Given the description of an element on the screen output the (x, y) to click on. 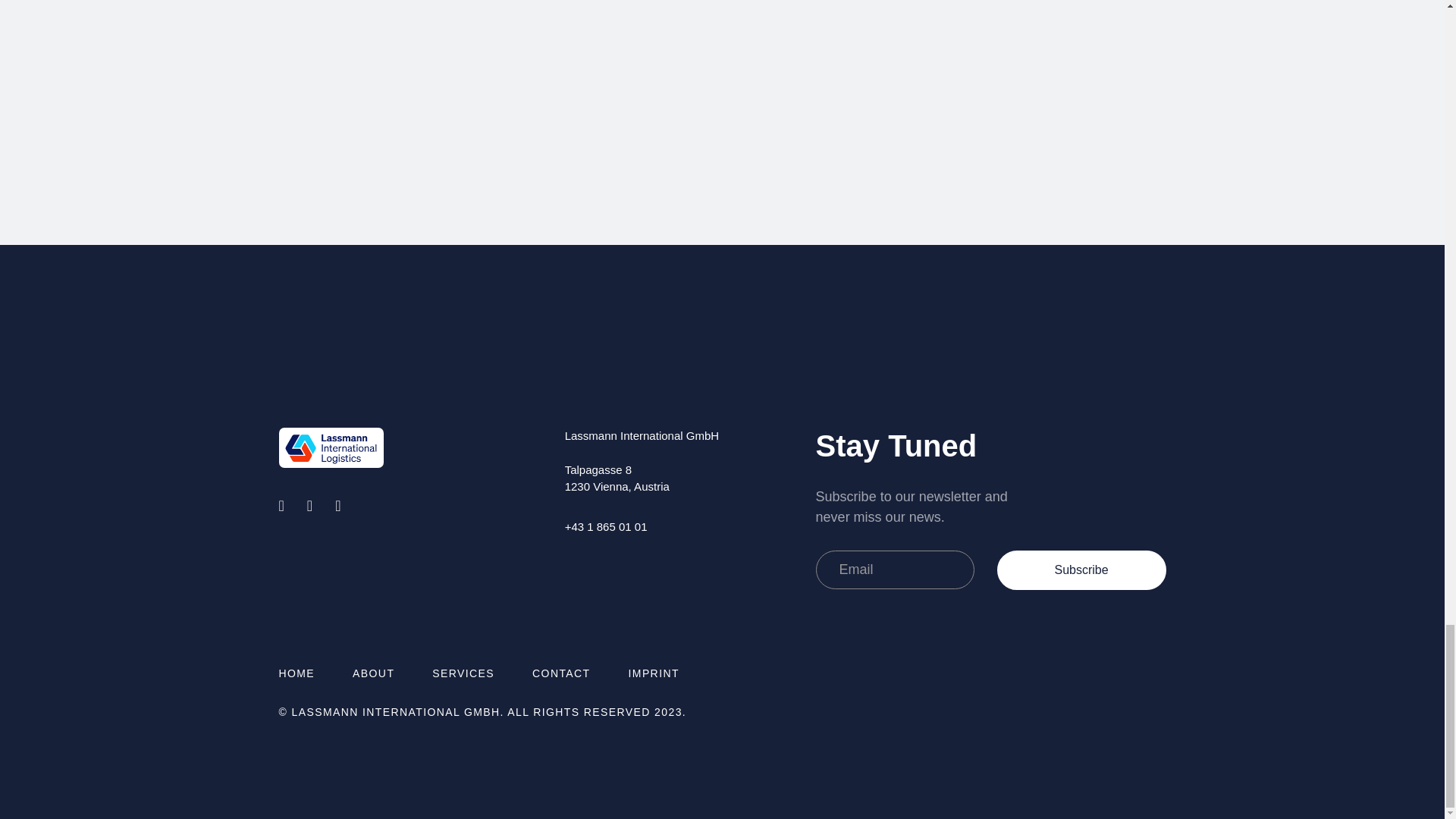
Subscribe (1081, 569)
IMPRINT (653, 673)
SERVICES (463, 673)
Subscribe (1081, 569)
ABOUT (373, 673)
CONTACT (560, 673)
HOME (297, 673)
